Given the description of an element on the screen output the (x, y) to click on. 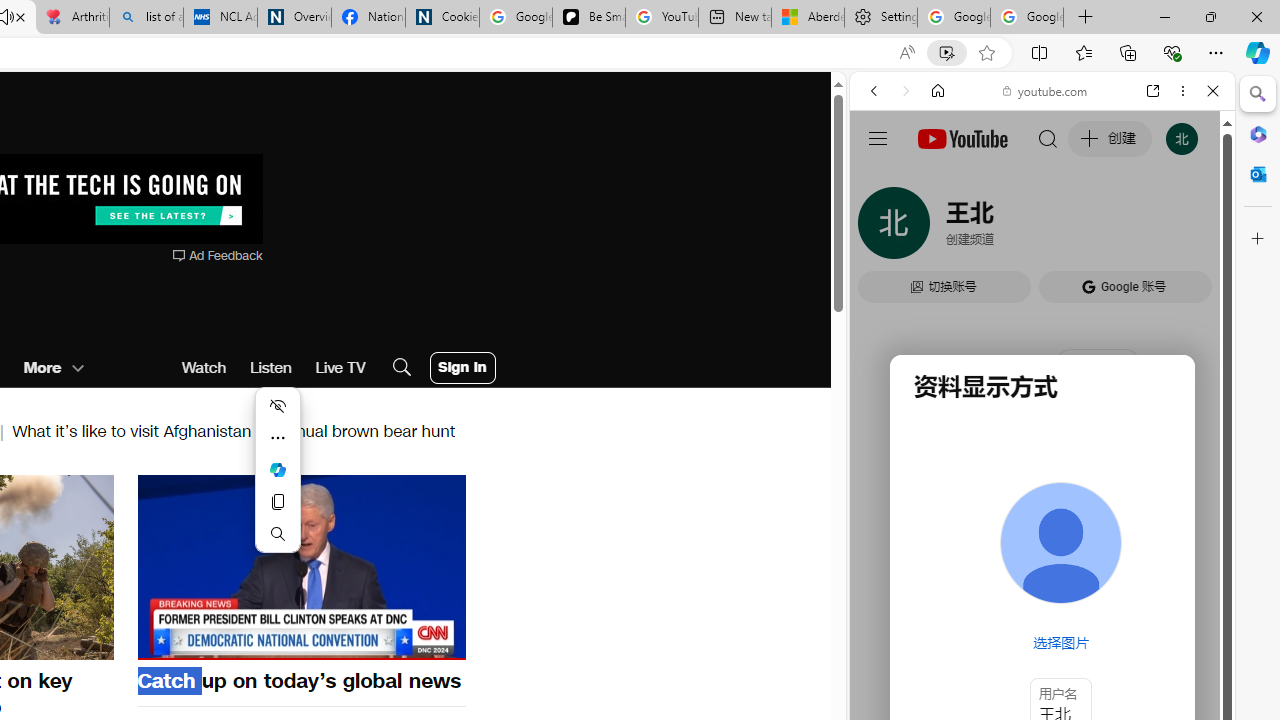
Mute (164, 642)
More actions (277, 437)
